Given the description of an element on the screen output the (x, y) to click on. 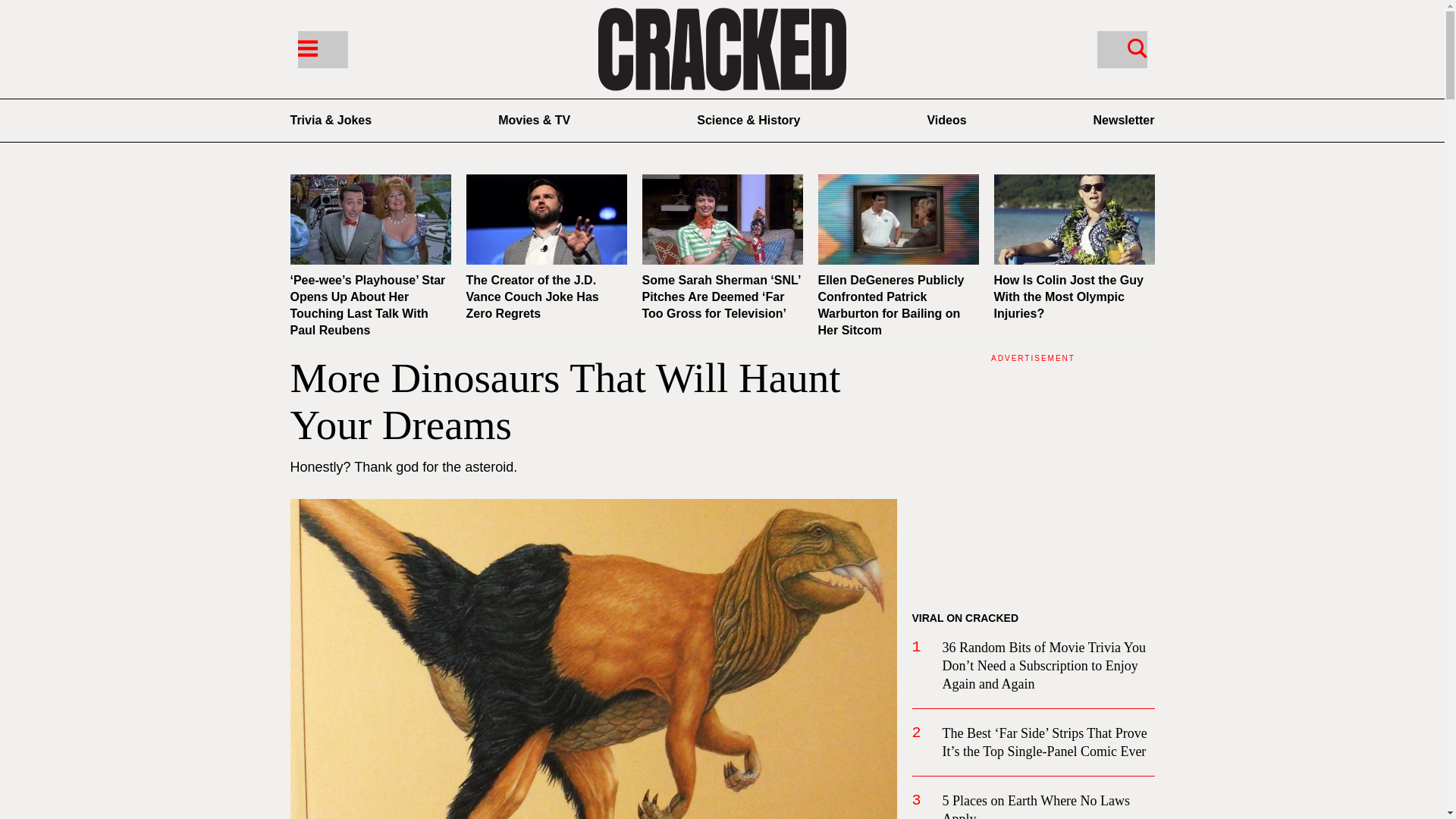
Videos (946, 119)
The Creator of the J.D. Vance Couch Joke Has Zero Regrets (545, 219)
Newsletter (1123, 119)
Videos (946, 119)
The Creator of the J.D. Vance Couch Joke Has Zero Regrets (531, 296)
Menu (322, 48)
Search (1121, 48)
How Is Colin Jost the Guy With the Most Olympic Injuries? (1067, 296)
Search (1136, 47)
Menu (307, 47)
Cracked Newsletter (1123, 119)
